Given the description of an element on the screen output the (x, y) to click on. 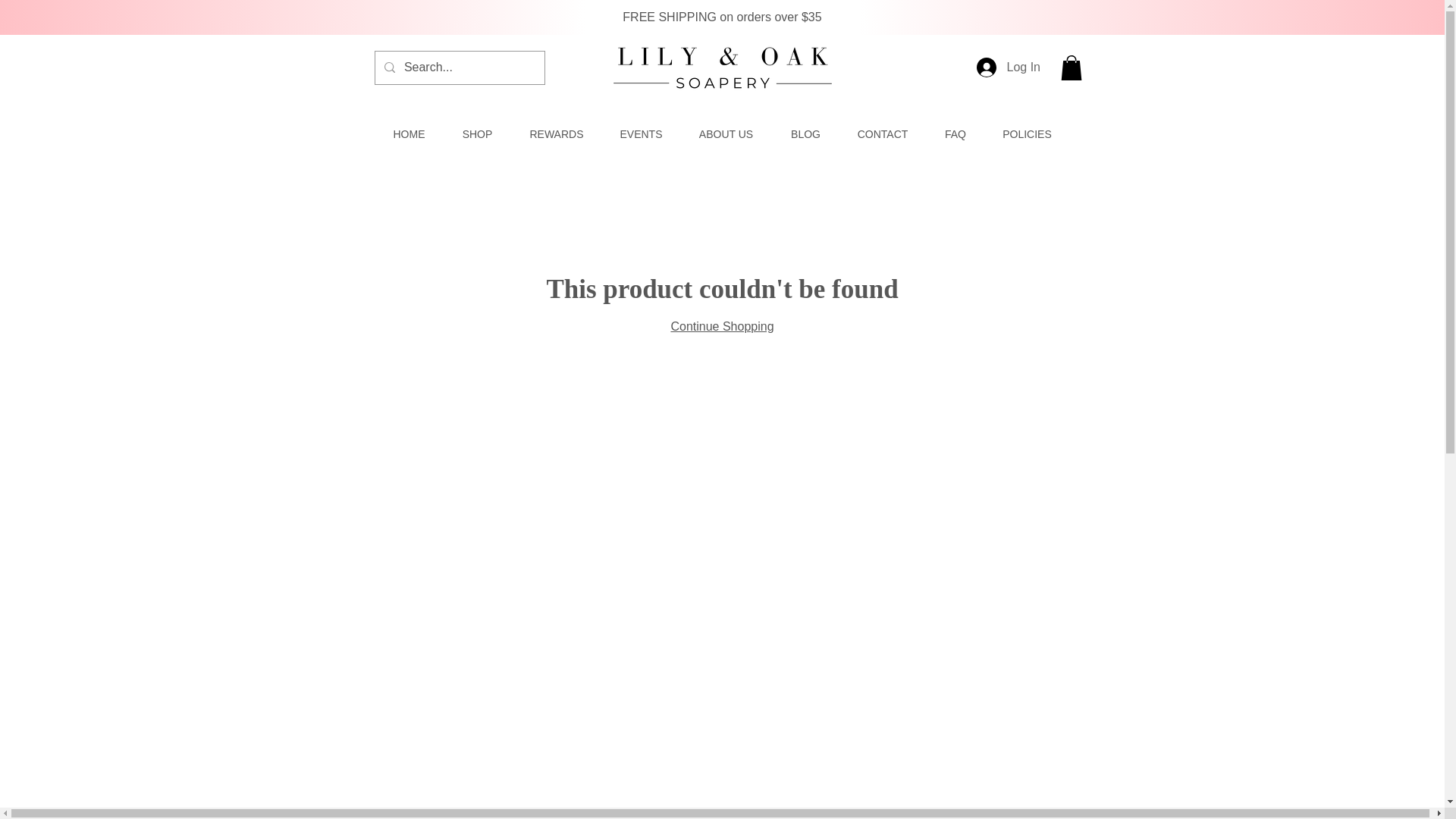
HOME (409, 133)
CONTACT (882, 133)
FAQ (955, 133)
ABOUT US (725, 133)
REWARDS (556, 133)
Log In (998, 67)
EVENTS (640, 133)
BLOG (804, 133)
Continue Shopping (721, 326)
